Given the description of an element on the screen output the (x, y) to click on. 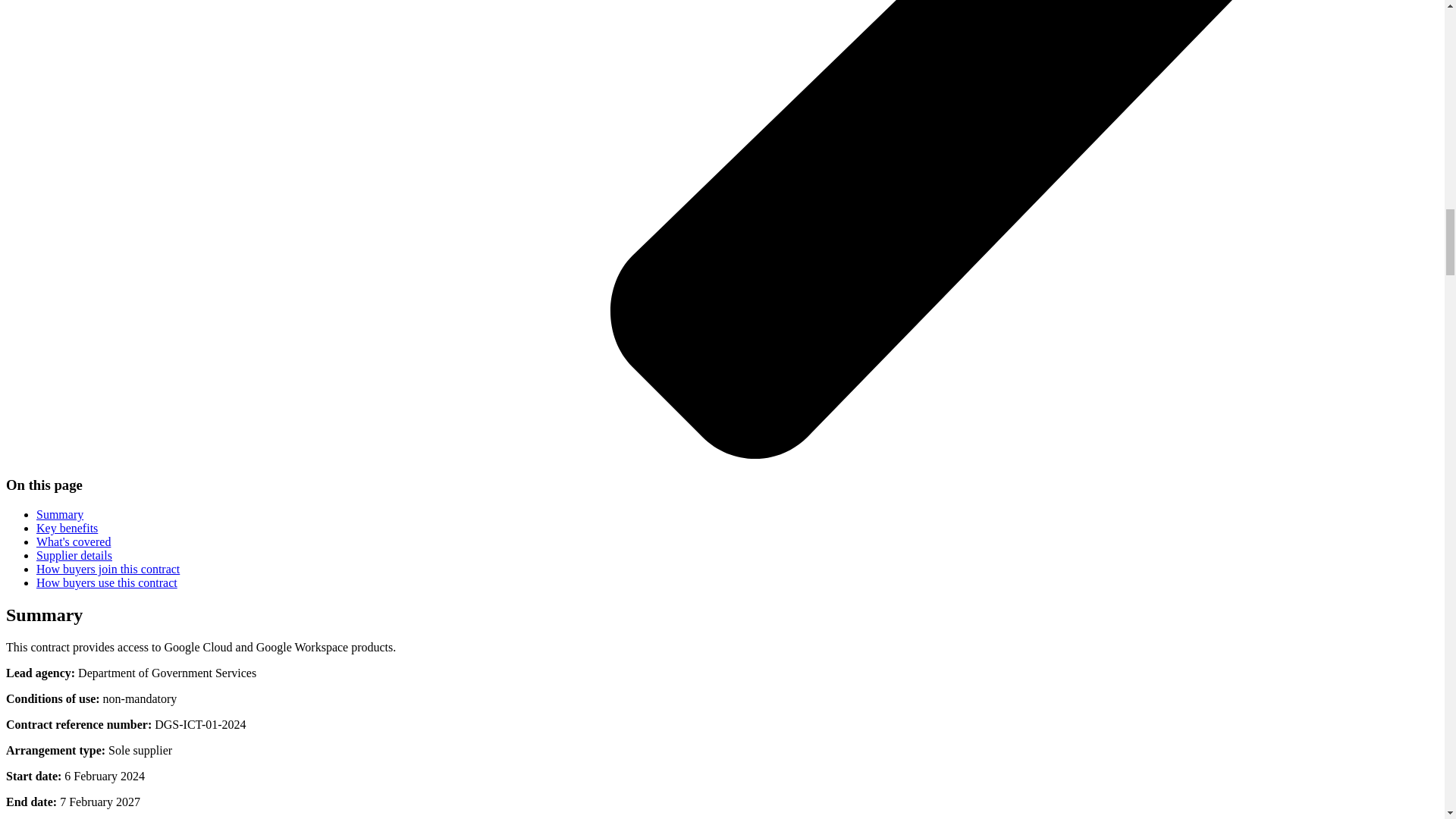
What's covered (73, 541)
How buyers join this contract (107, 568)
Supplier details (74, 554)
Key benefits (66, 527)
Summary (59, 513)
How buyers use this contract (106, 582)
